Given the description of an element on the screen output the (x, y) to click on. 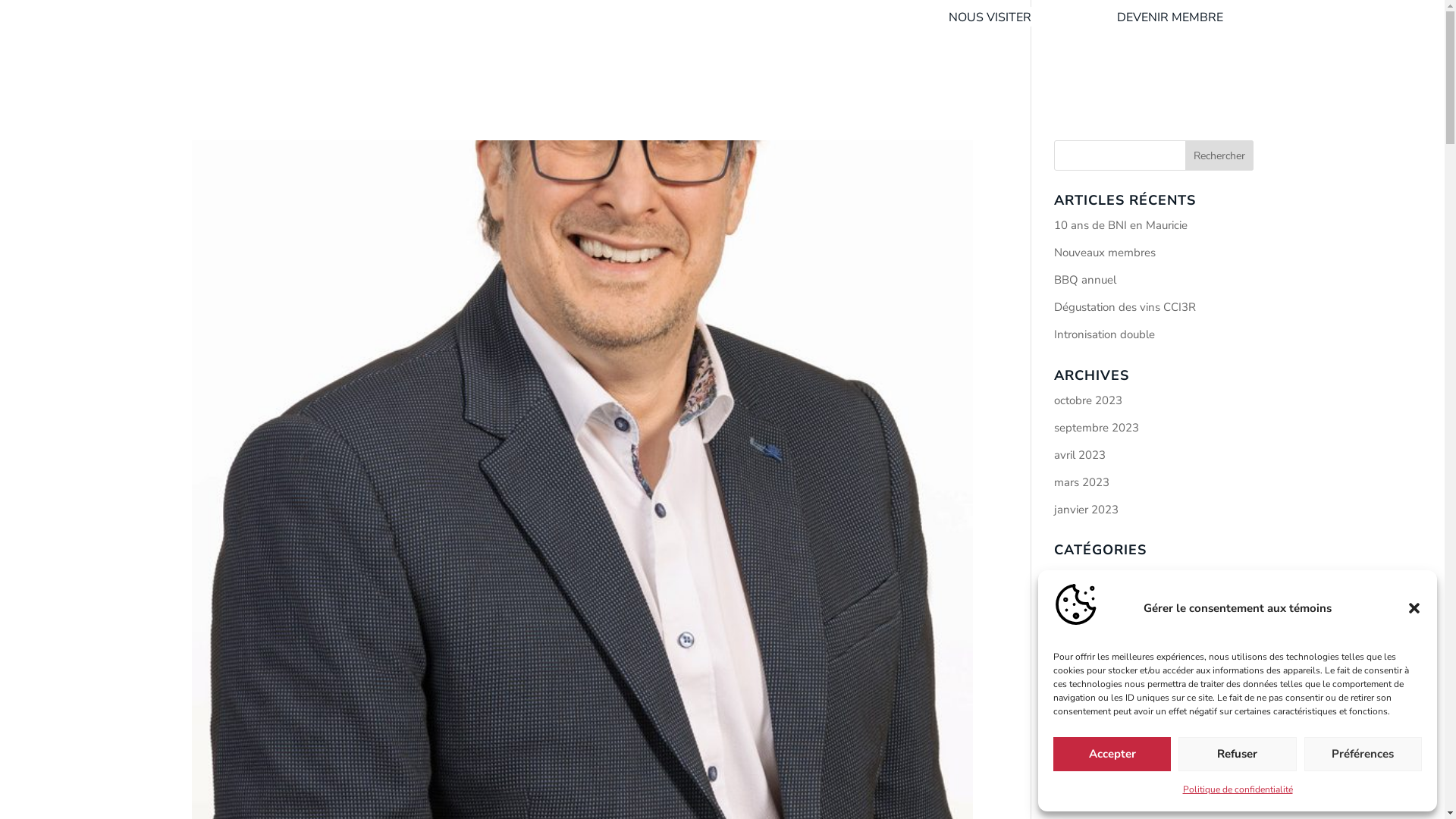
Flux des publications Element type: text (1107, 666)
BBQ annuel Element type: text (1085, 279)
mars 2023 Element type: text (1081, 481)
DEVENIR MEMBRE Element type: text (1168, 16)
avril 2023 Element type: text (1079, 454)
Intronisation double Element type: text (1104, 334)
janvier 2023 Element type: text (1086, 509)
10 ans de BNI en Mauricie Element type: text (1120, 224)
Flux des commentaires Element type: text (1112, 694)
NOUS VISITER Element type: text (988, 16)
Uncategorized Element type: text (1090, 574)
Nouveaux membres Element type: text (1104, 252)
octobre 2023 Element type: text (1088, 399)
CONTACT Element type: text (1228, 78)
Accepter Element type: text (1111, 754)
MEMBRES Element type: text (1152, 78)
Refuser Element type: text (1236, 754)
Rechercher Element type: text (1219, 155)
septembre 2023 Element type: text (1096, 427)
Site de WordPress-FR Element type: text (1110, 721)
Connexion Element type: text (1080, 639)
